Given the description of an element on the screen output the (x, y) to click on. 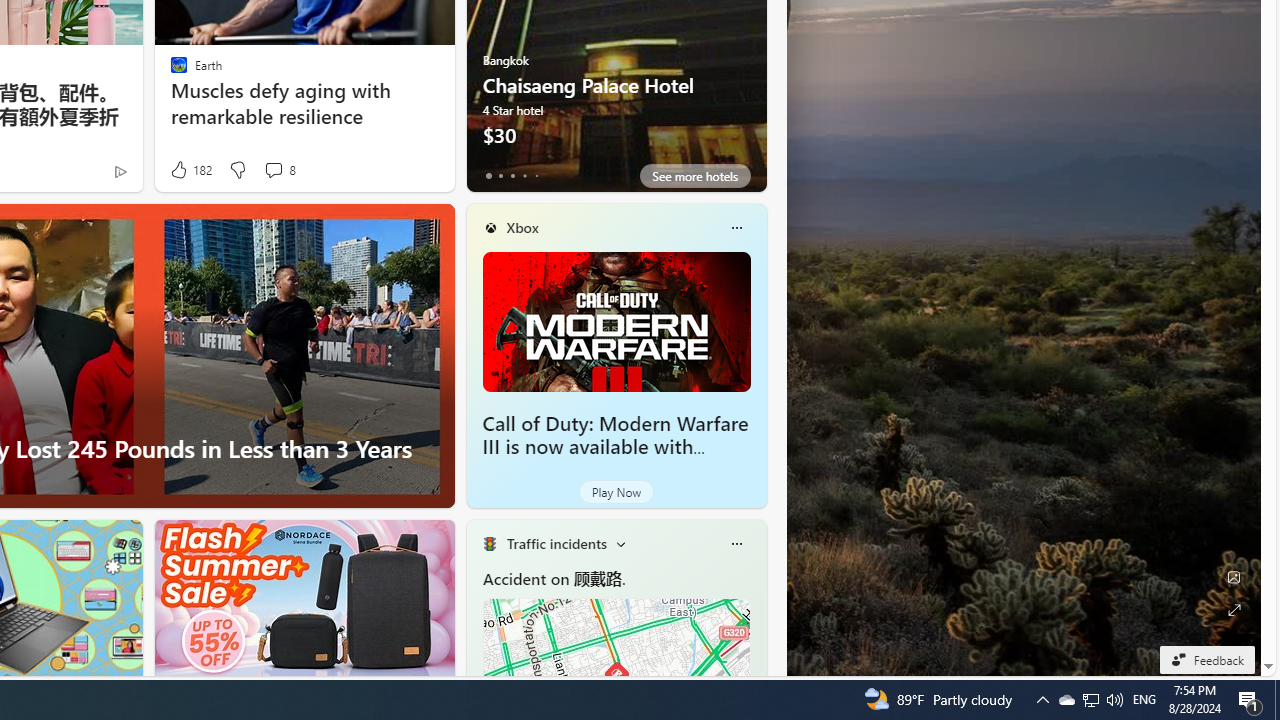
Edit Background (1233, 577)
Traffic incidents (555, 543)
View comments 8 Comment (279, 170)
tab-3 (524, 175)
182 Like (190, 170)
Change scenarios (620, 543)
Xbox (521, 227)
View comments 8 Comment (273, 169)
